Given the description of an element on the screen output the (x, y) to click on. 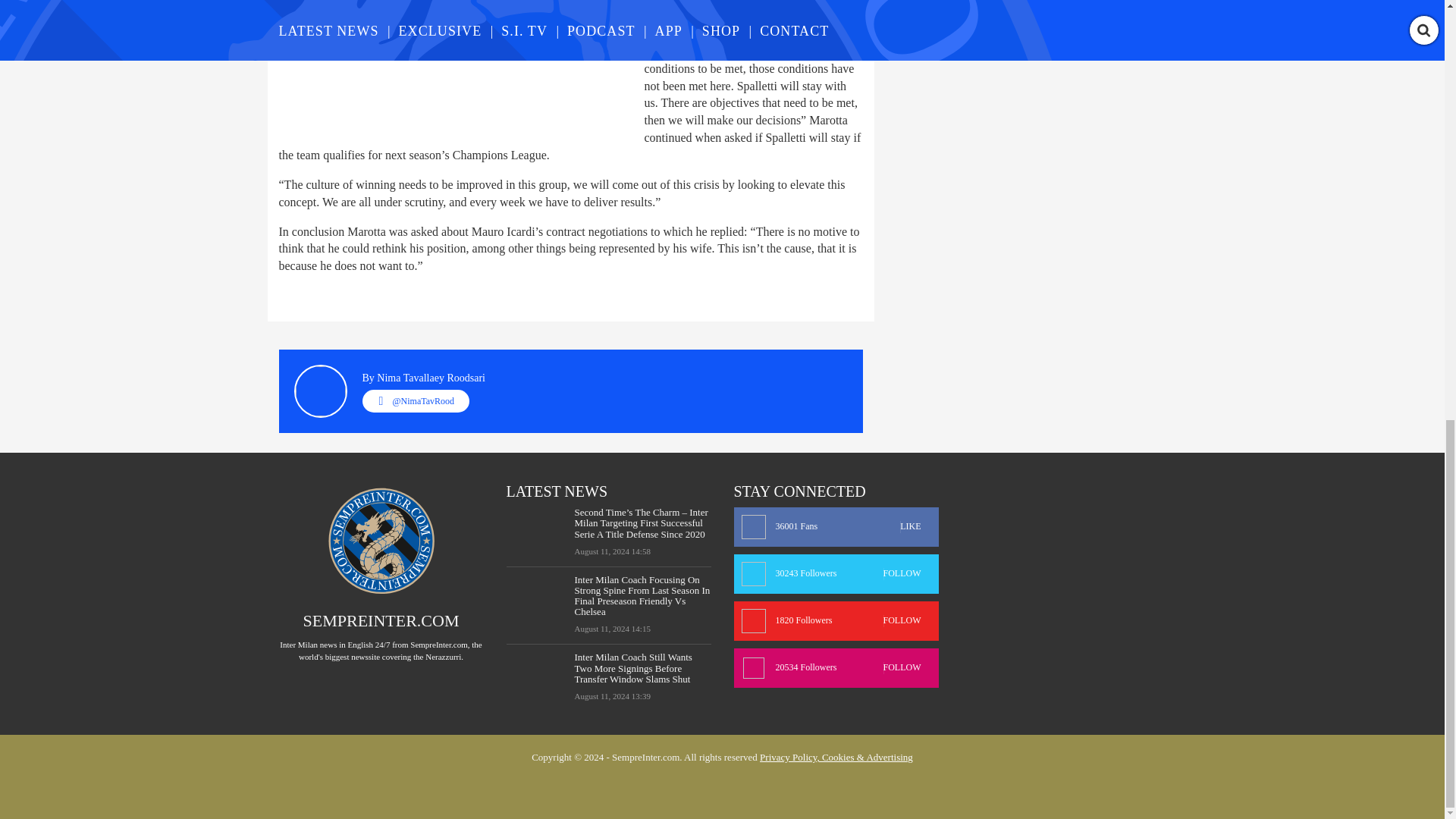
View more articles by Nima Tavallaey Roodsari (836, 526)
Nima Tavallaey Roodsari (430, 378)
SEMPREINTER.COM (430, 378)
